Given the description of an element on the screen output the (x, y) to click on. 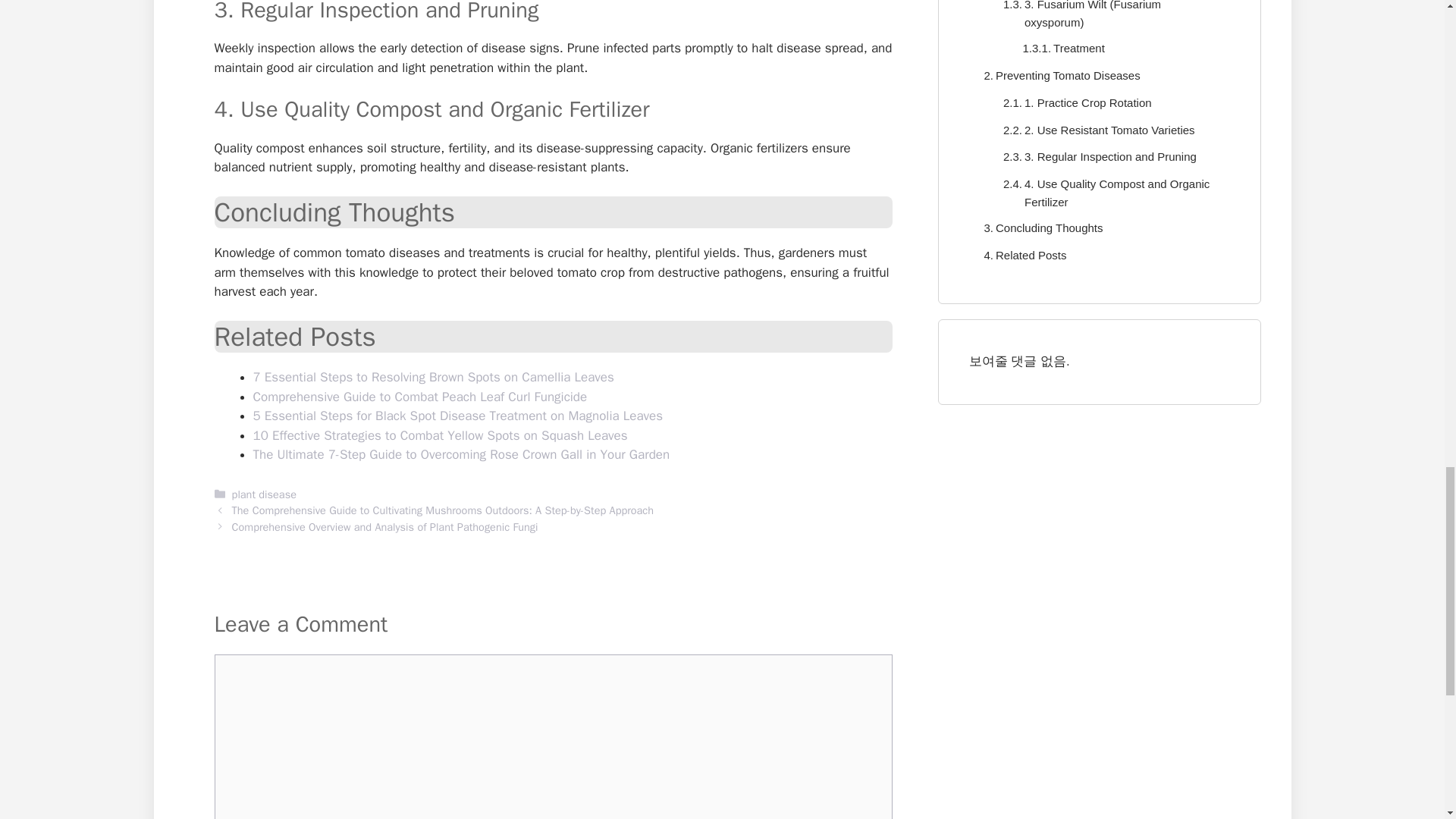
plant disease (264, 494)
Comprehensive Guide to Combat Peach Leaf Curl Fungicide (420, 396)
